Given the description of an element on the screen output the (x, y) to click on. 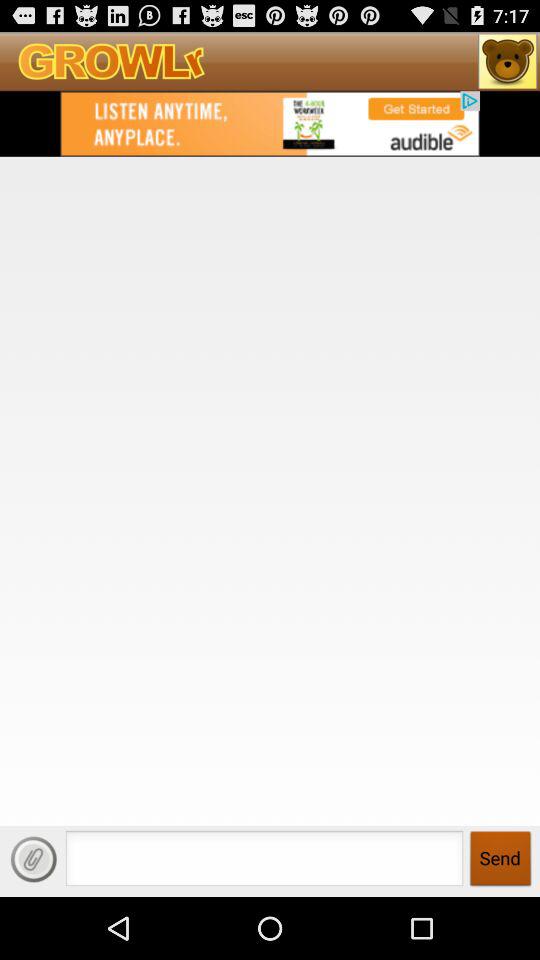
go to home page (507, 61)
